Given the description of an element on the screen output the (x, y) to click on. 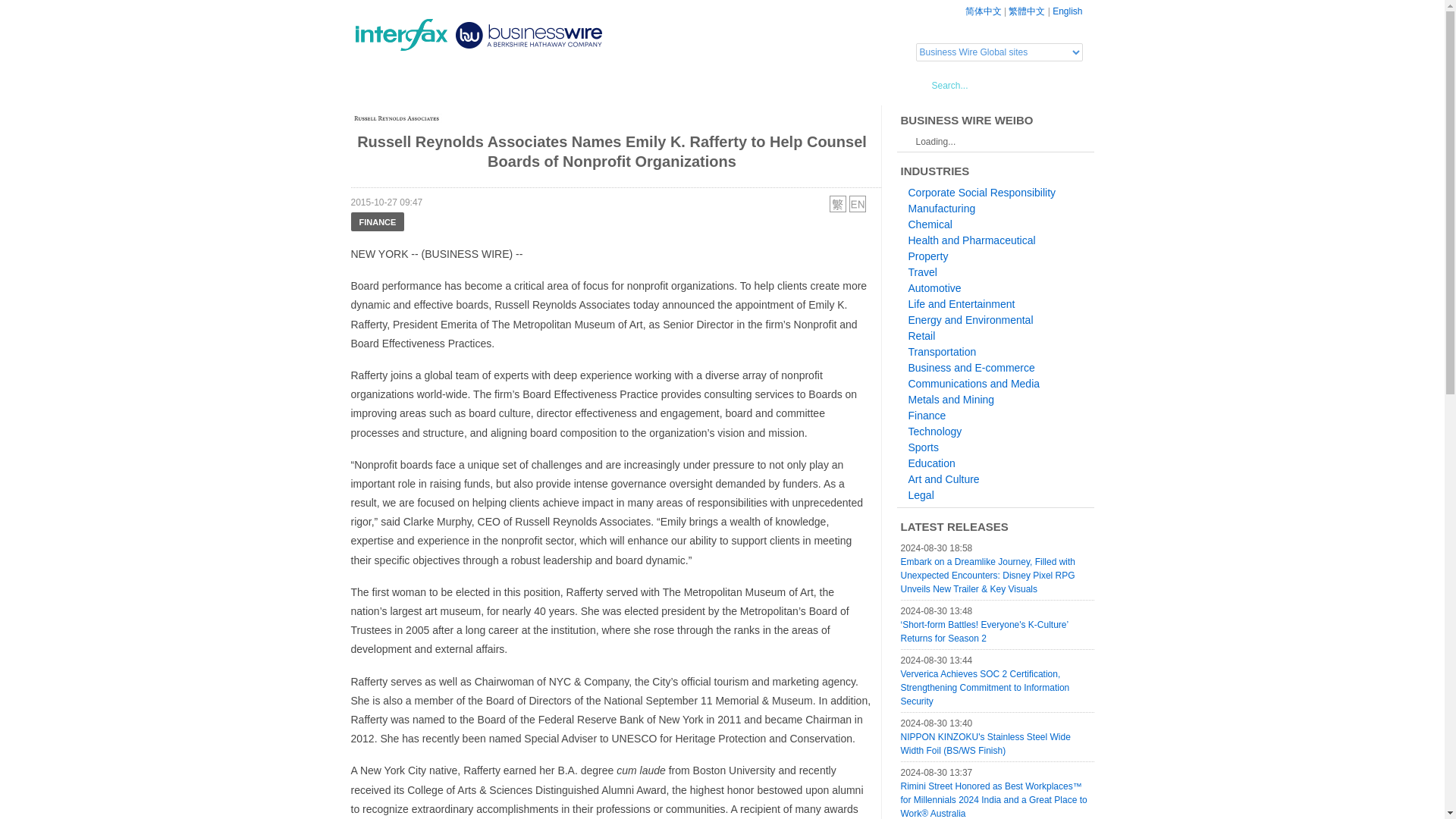
Communications and Media (974, 383)
Health and Pharmaceutical (971, 240)
Manufacturing (941, 208)
Art and Culture (943, 479)
Metals and Mining (951, 399)
Energy and Environmental (970, 319)
Search... (989, 85)
